Given the description of an element on the screen output the (x, y) to click on. 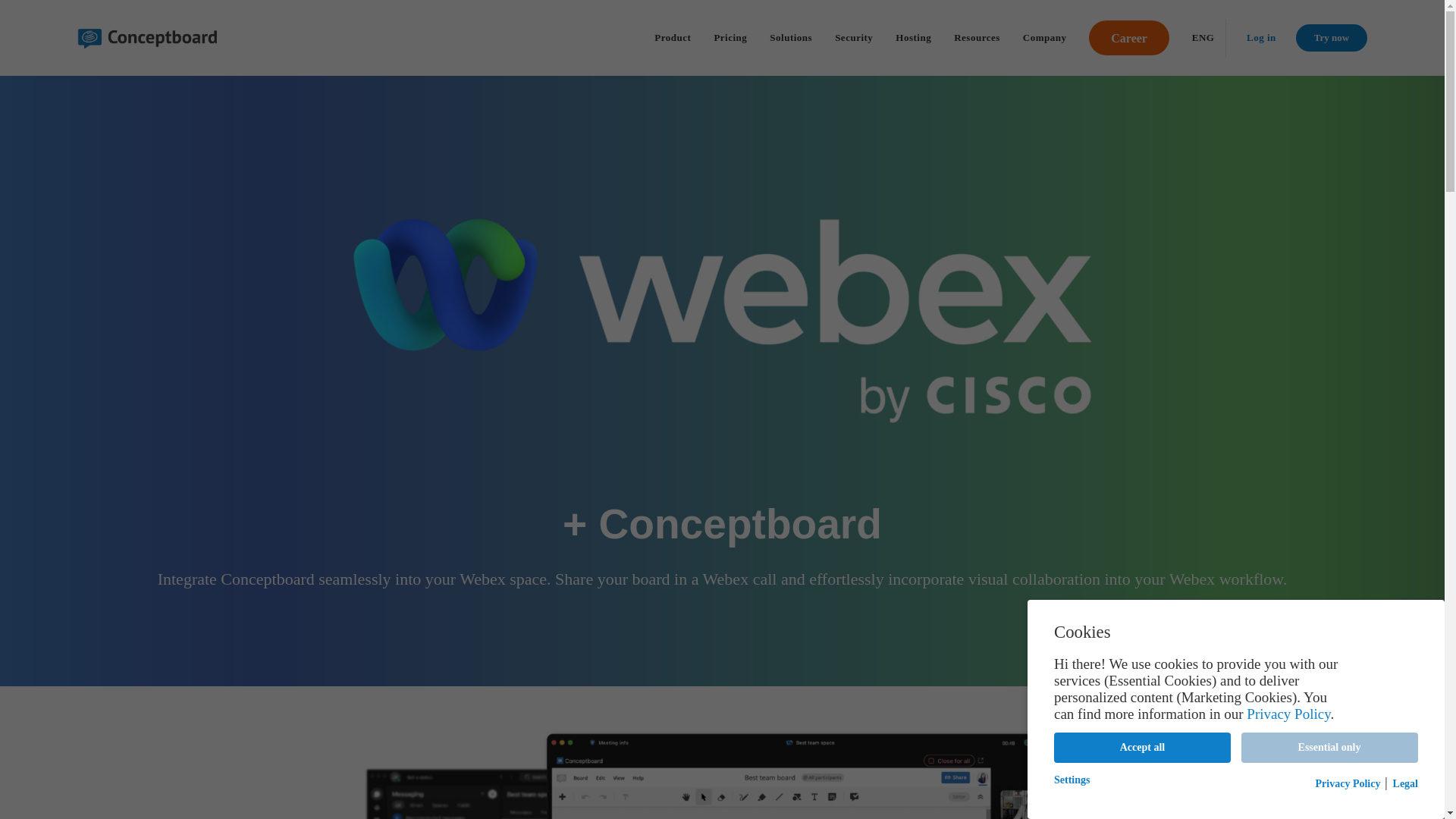
Pricing (729, 37)
Solutions (791, 37)
Product (672, 37)
ENG (1202, 37)
